Given the description of an element on the screen output the (x, y) to click on. 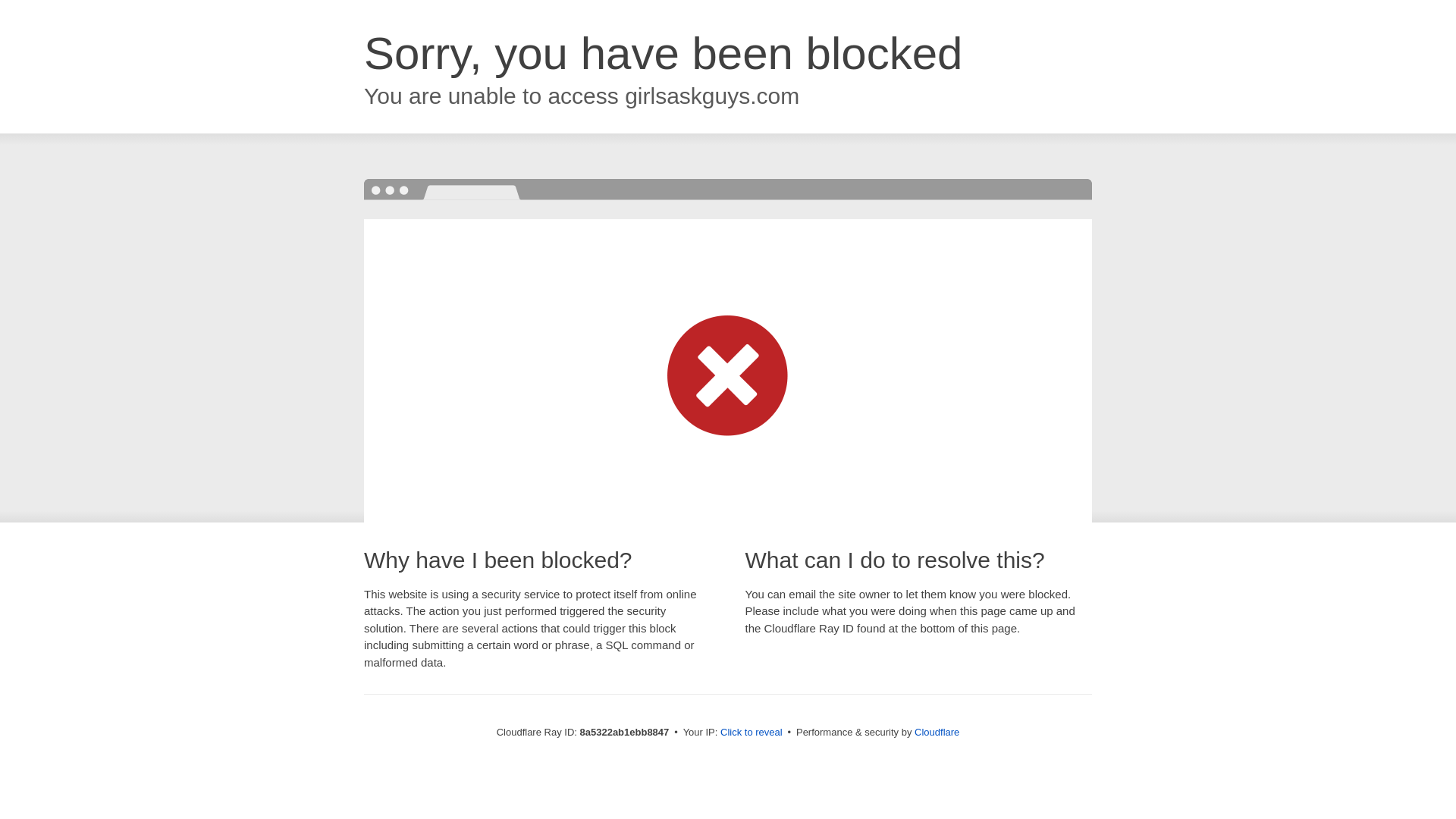
Cloudflare (936, 731)
Click to reveal (751, 732)
